Given the description of an element on the screen output the (x, y) to click on. 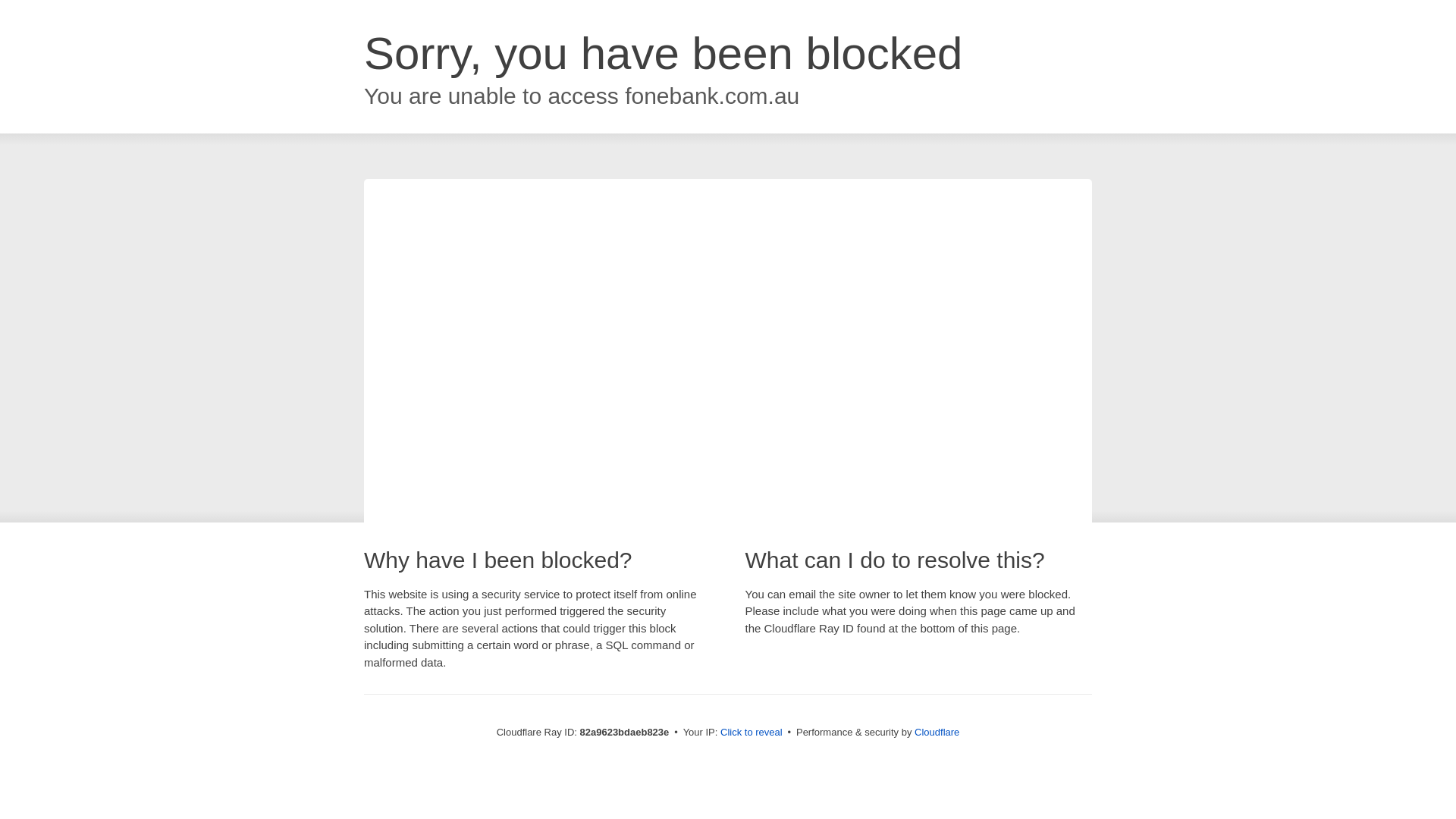
Cloudflare Element type: text (936, 731)
Click to reveal Element type: text (751, 732)
